Given the description of an element on the screen output the (x, y) to click on. 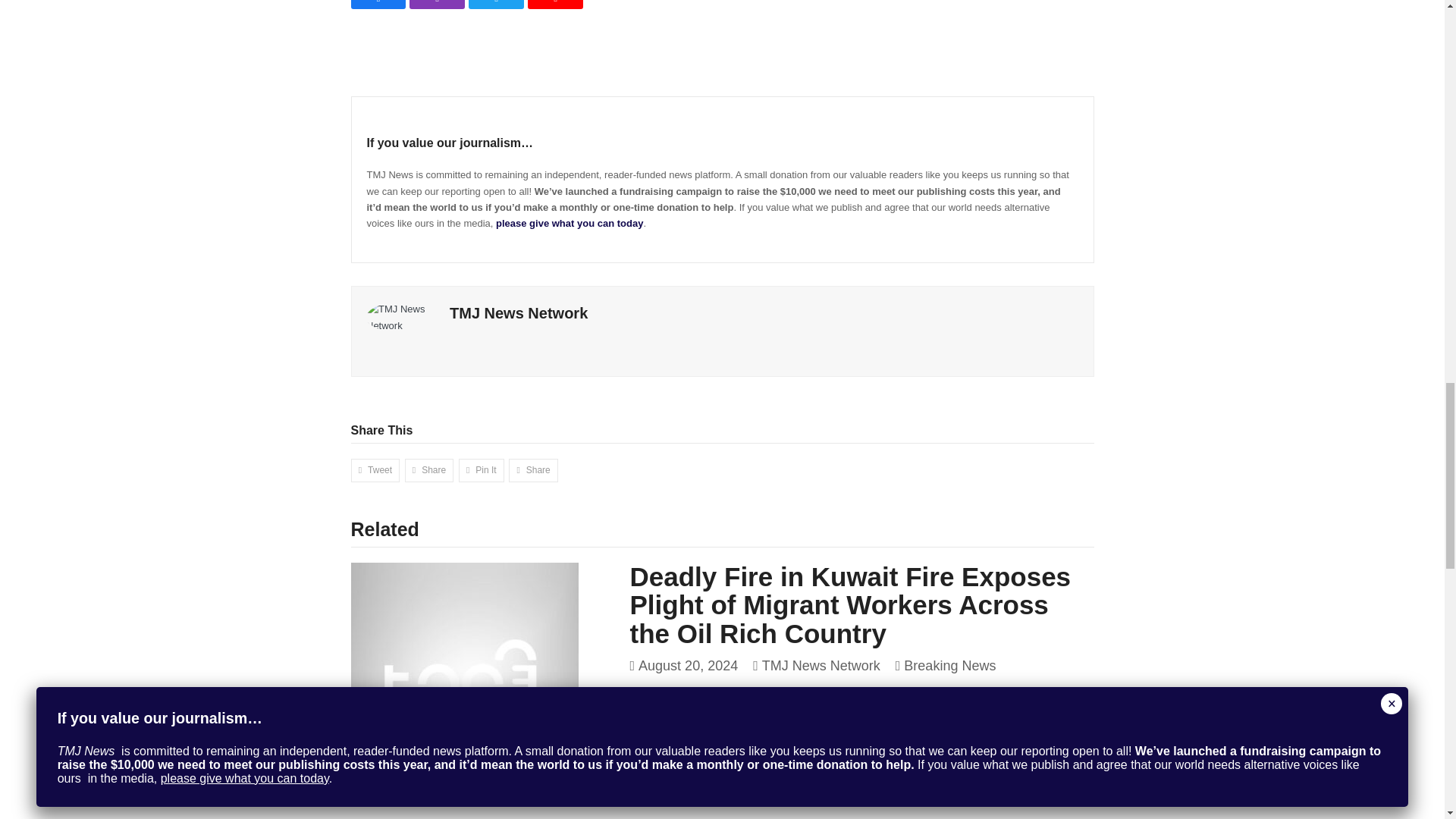
Instagram (436, 4)
Facebook (378, 4)
TMJ News Network (518, 312)
Youtube (555, 4)
Twitter (496, 4)
